Given the description of an element on the screen output the (x, y) to click on. 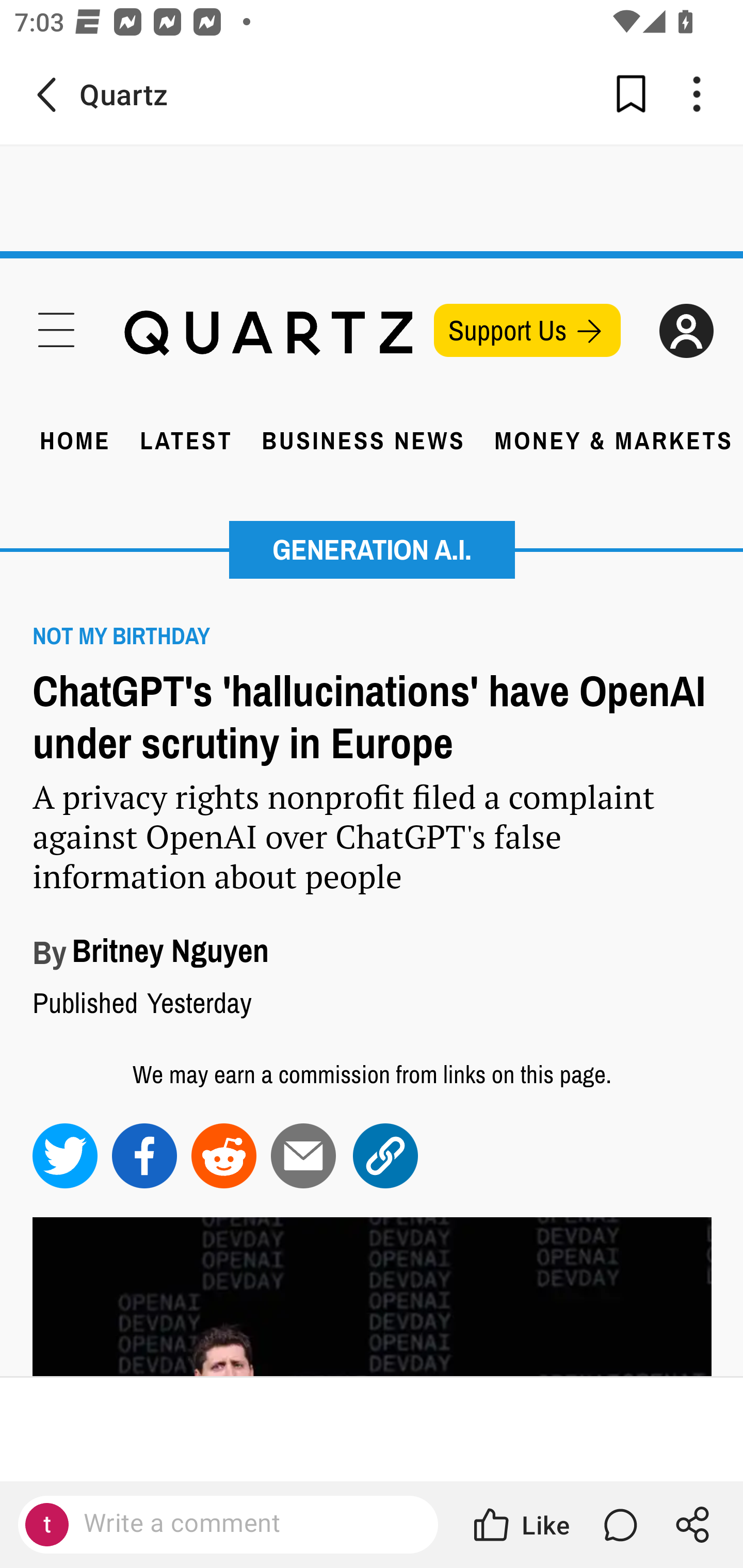
Like (519, 1524)
Write a comment (245, 1523)
